Given the description of an element on the screen output the (x, y) to click on. 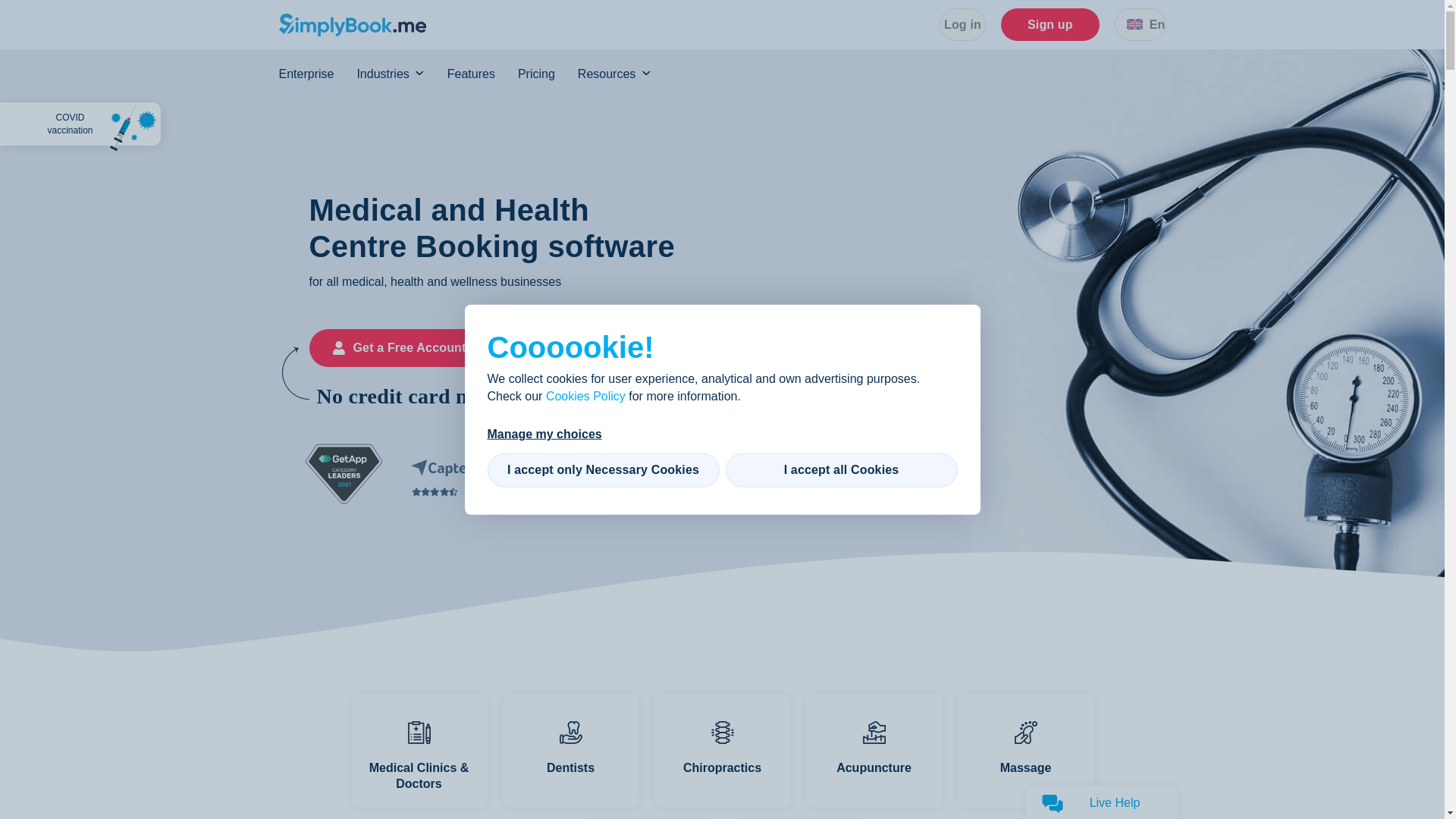
SimplyBook (352, 24)
En (1140, 24)
Industries (401, 73)
Log in (962, 24)
Sign up (1050, 24)
Category Leaders Badge (343, 473)
Enterprise (317, 73)
